Given the description of an element on the screen output the (x, y) to click on. 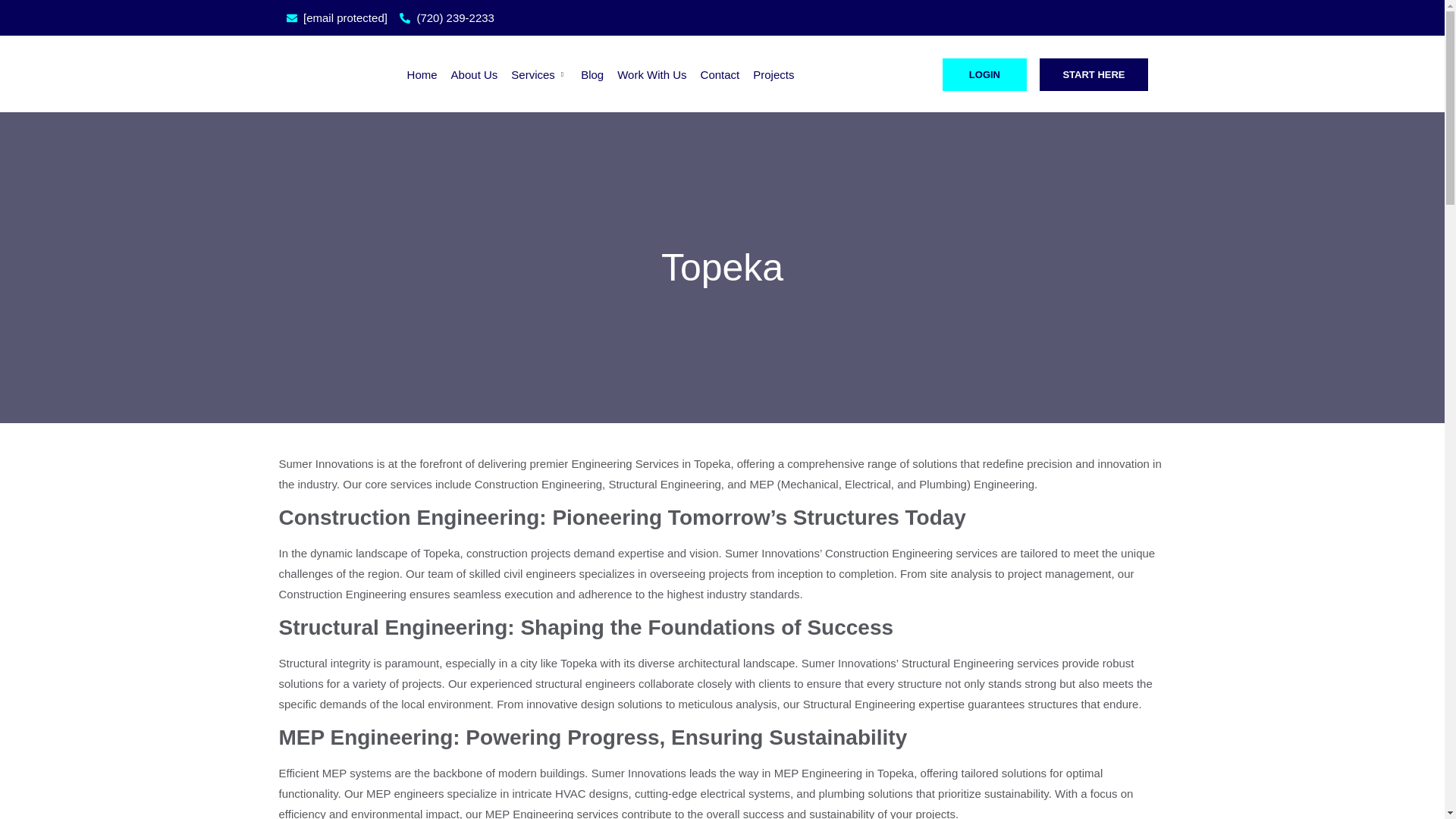
Services (532, 74)
About Us (468, 74)
